Given the description of an element on the screen output the (x, y) to click on. 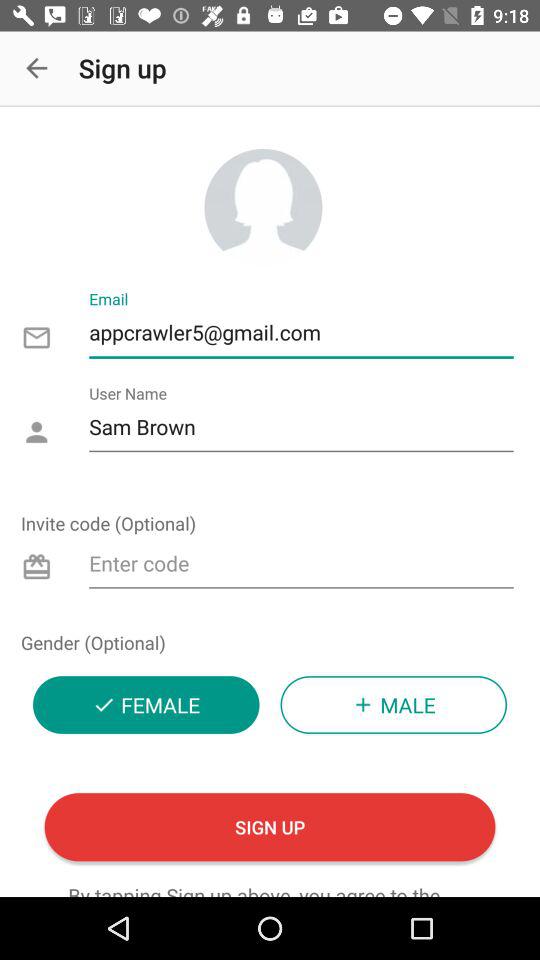
enter code (301, 566)
